Given the description of an element on the screen output the (x, y) to click on. 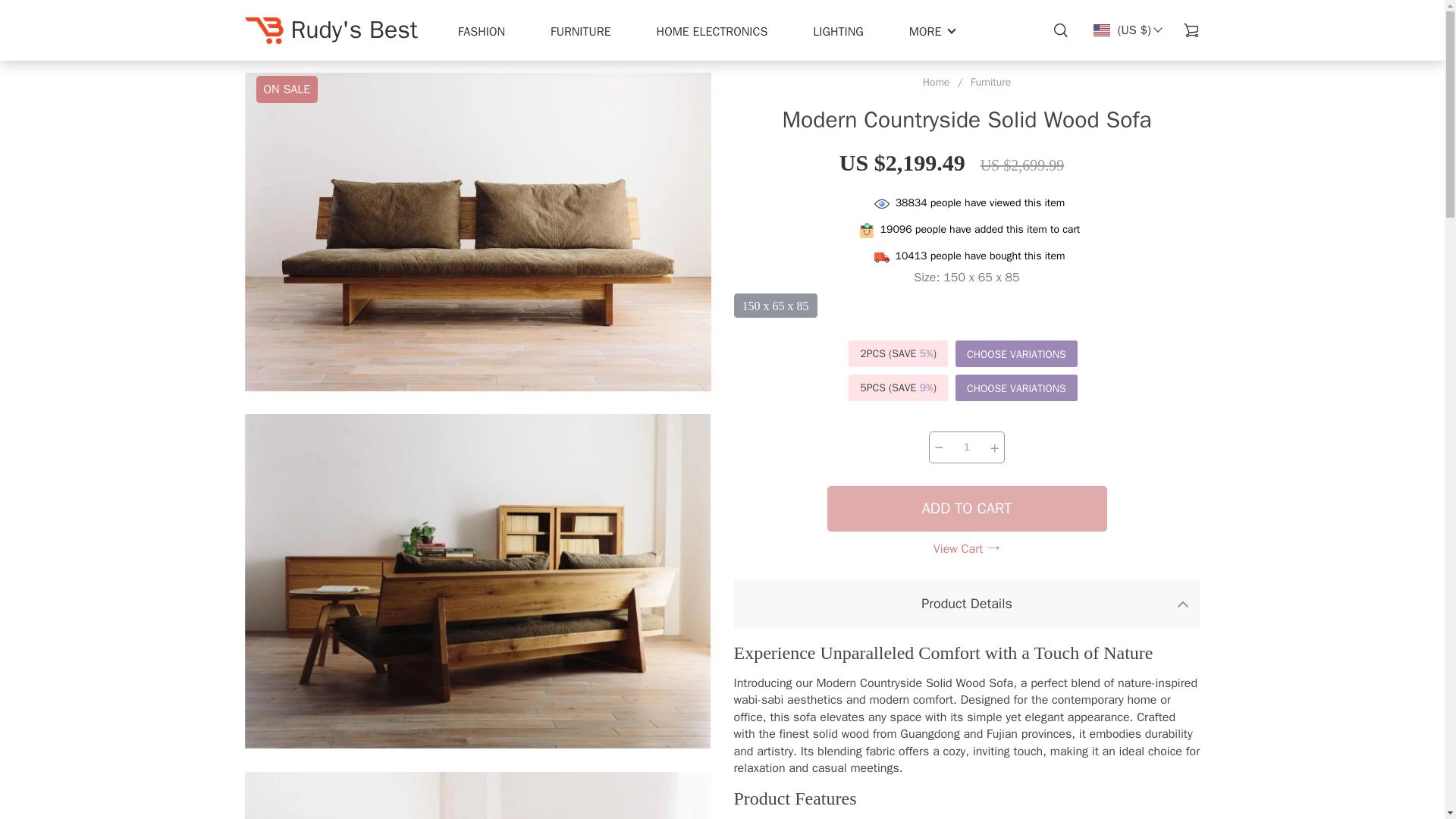
LIGHTING (837, 31)
FURNITURE (580, 31)
FASHION (481, 31)
5075-40e974.jpg (477, 795)
HOME ELECTRONICS (712, 31)
1 (966, 447)
Rudy's Best (330, 29)
